Given the description of an element on the screen output the (x, y) to click on. 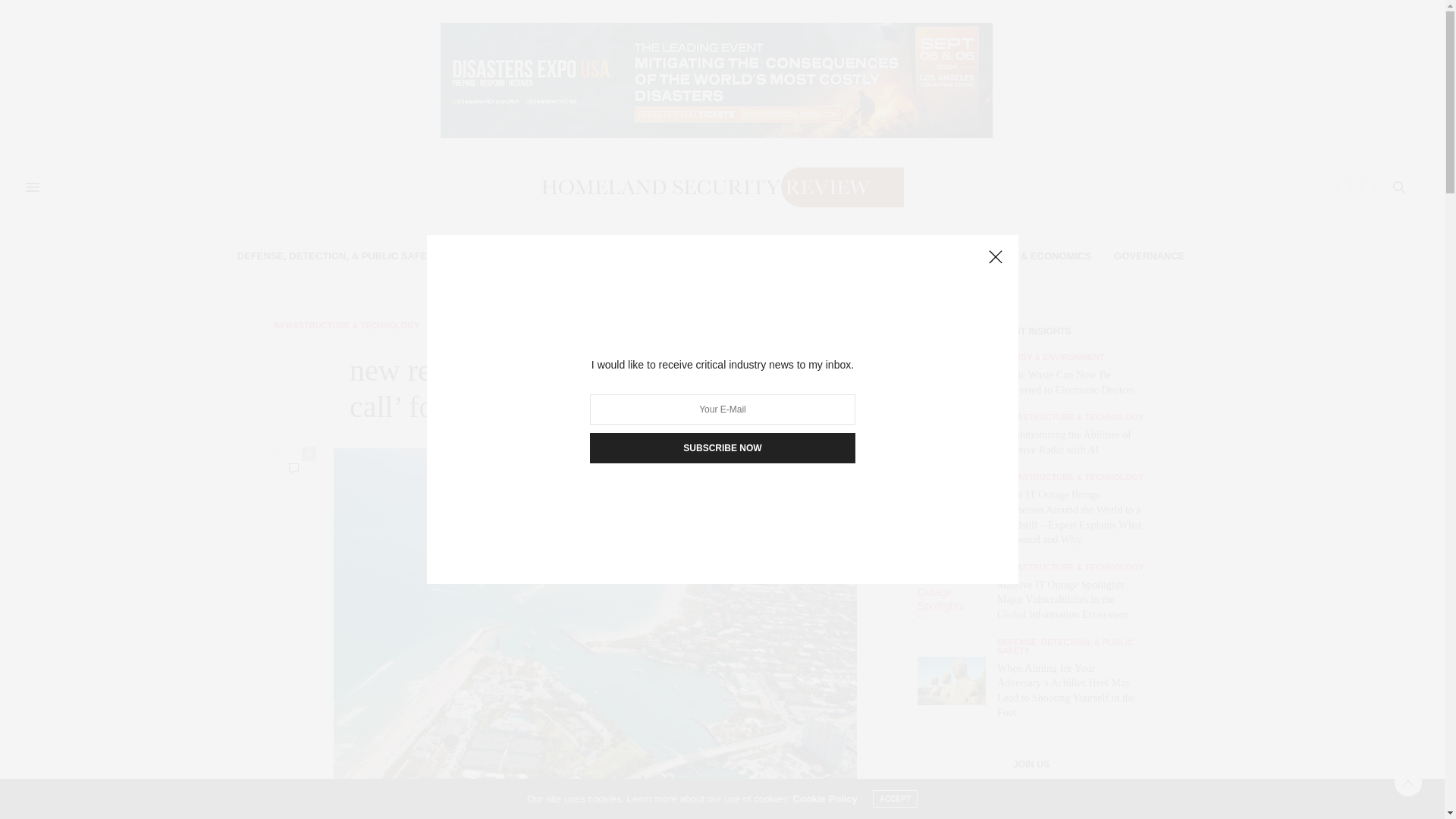
Revolutionizing the Abilities of Adaptive Radar with AI (957, 436)
Plastic Waste Can Now Be Converted to Electronic Devices (951, 377)
Revolutionizing the Abilities of Adaptive Radar with AI (1064, 442)
Plastic Waste Can Now Be Converted to Electronic Devices (957, 377)
Revolutionizing the Abilities of Adaptive Radar with AI (951, 436)
GOVERNANCE (1149, 256)
SUBSCRIBE NOW (722, 448)
Homeland Security Review (716, 186)
0 (293, 467)
Plastic Waste Can Now Be Converted to Electronic Devices (1066, 382)
